Given the description of an element on the screen output the (x, y) to click on. 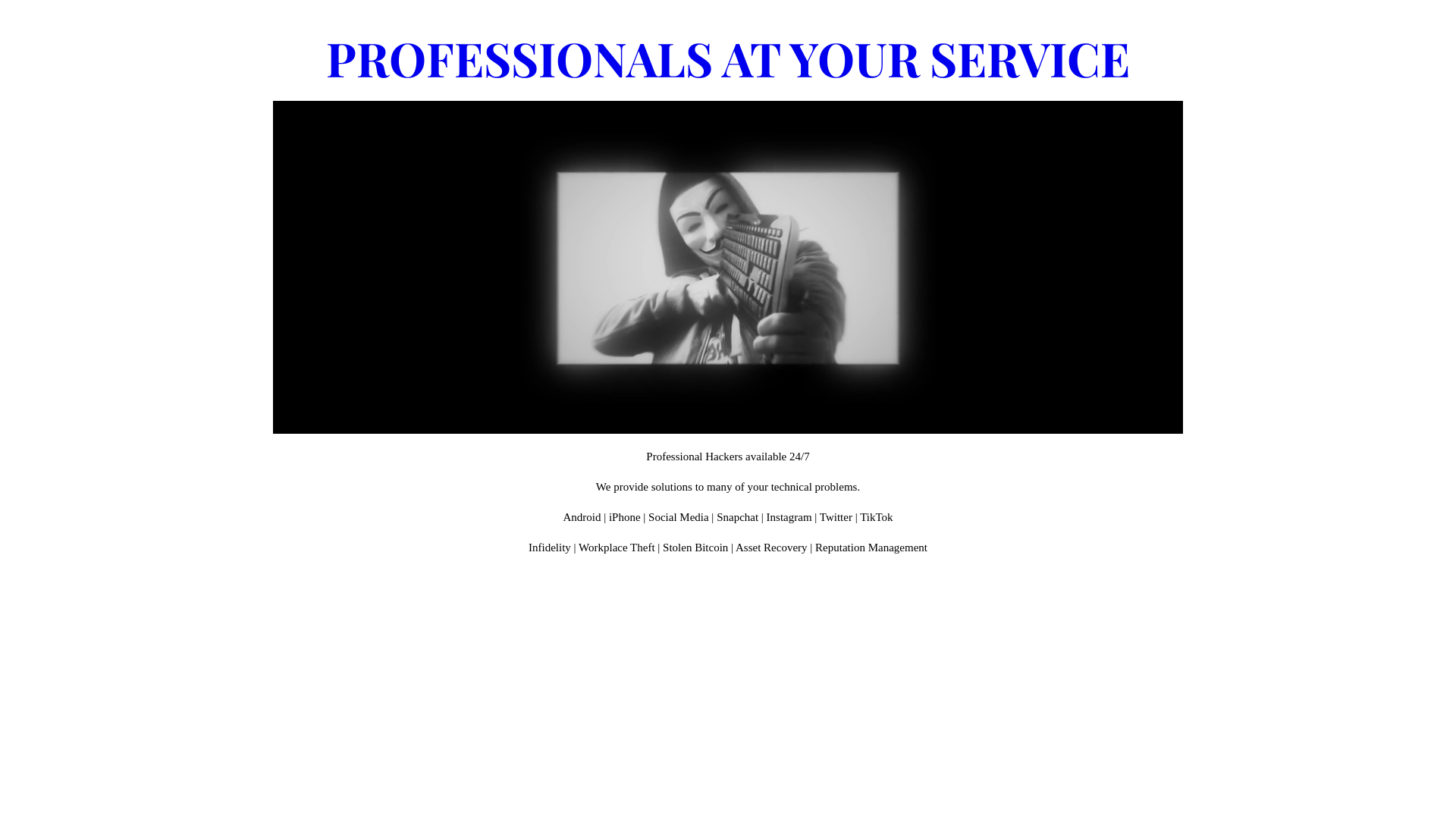
PROFESSIONALS AT YOUR SERVICE Element type: text (727, 57)
